Given the description of an element on the screen output the (x, y) to click on. 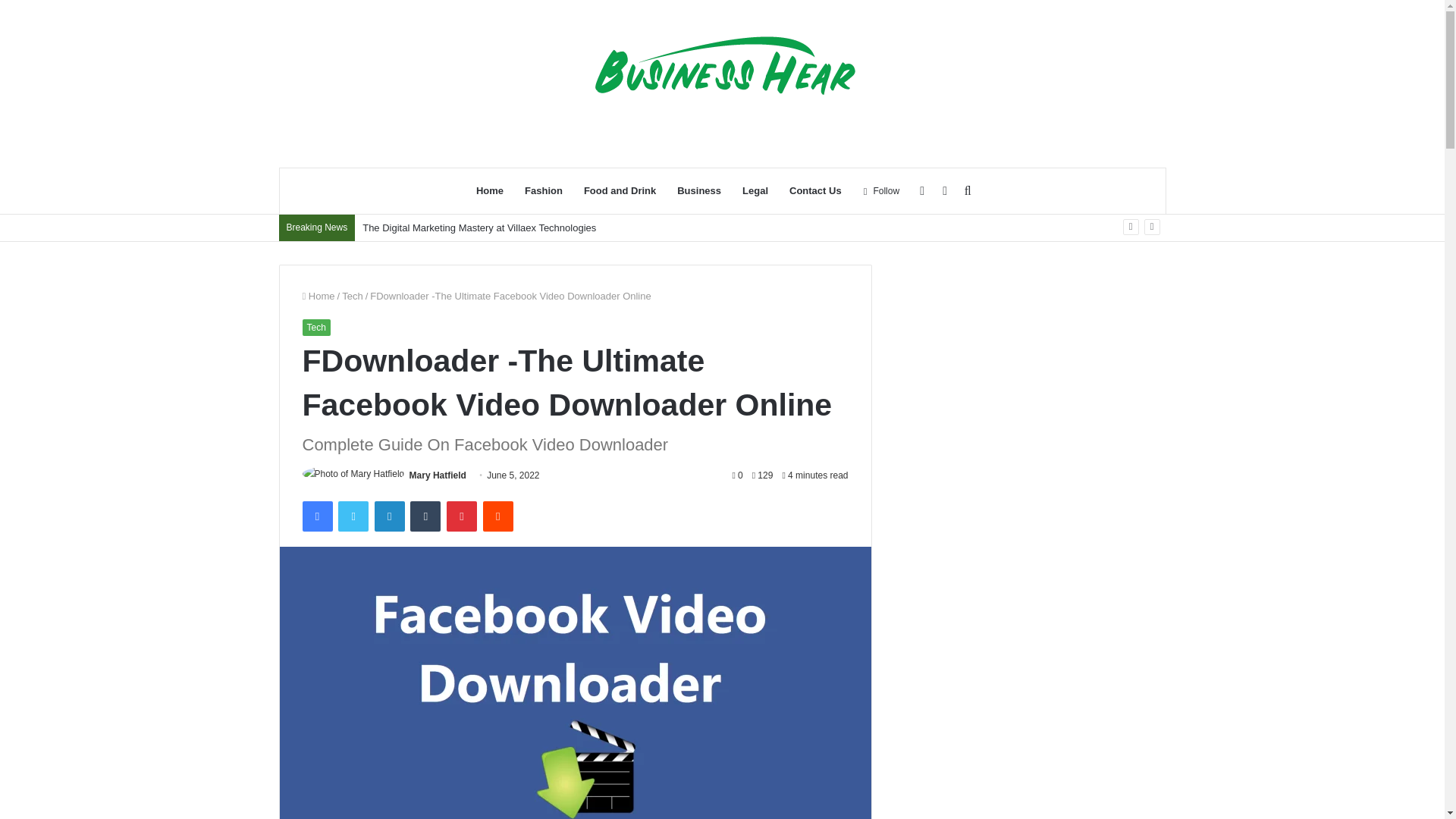
Reddit (498, 516)
Twitter (352, 516)
Tech (315, 327)
Home (317, 296)
Pinterest (461, 516)
LinkedIn (389, 516)
Business (699, 190)
Tumblr (425, 516)
Tumblr (425, 516)
Follow (881, 190)
Facebook (316, 516)
Twitter (352, 516)
Tech (352, 296)
Mary Hatfield (437, 475)
Reddit (498, 516)
